Given the description of an element on the screen output the (x, y) to click on. 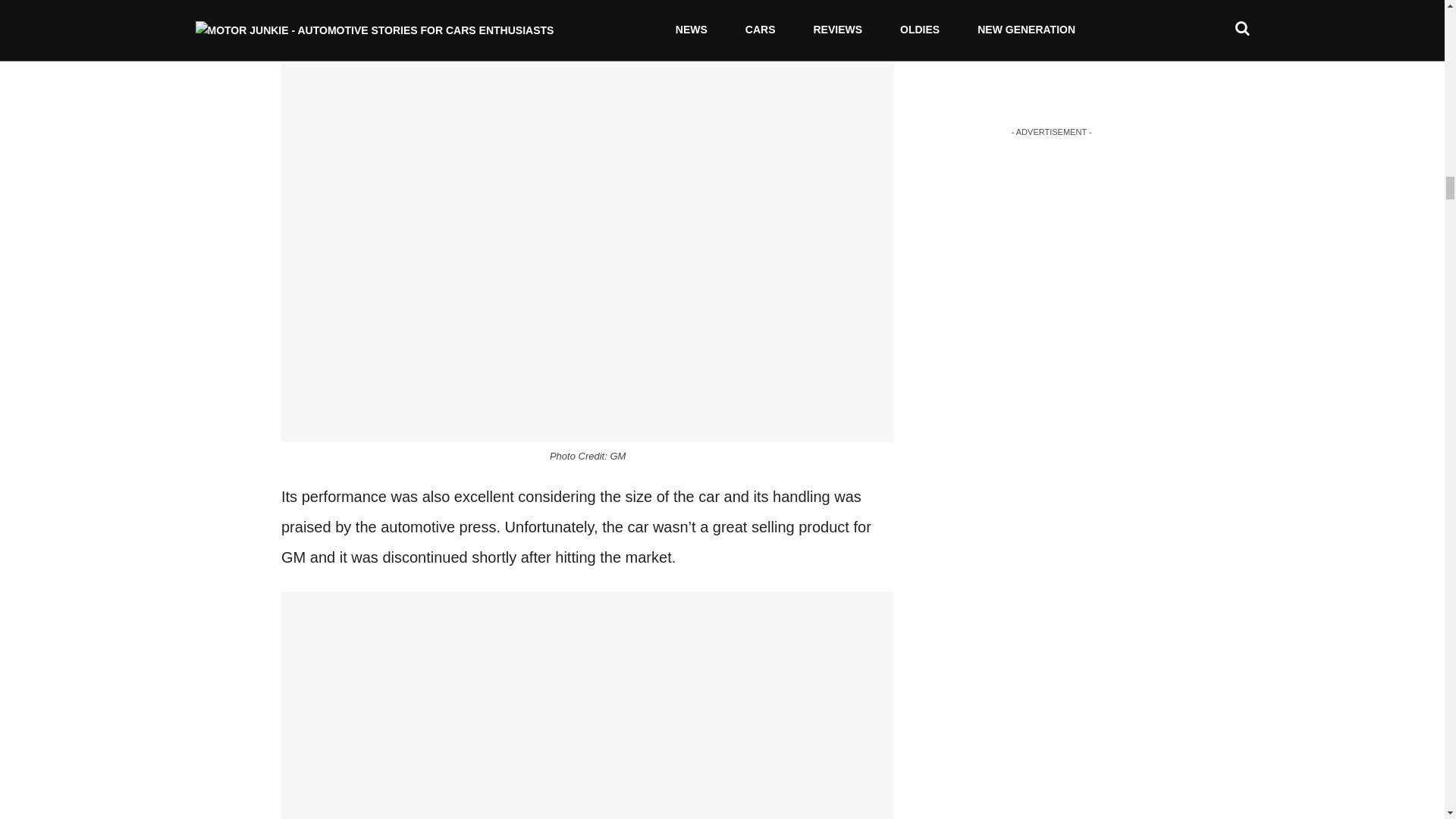
Hemmings (671, 3)
